Given the description of an element on the screen output the (x, y) to click on. 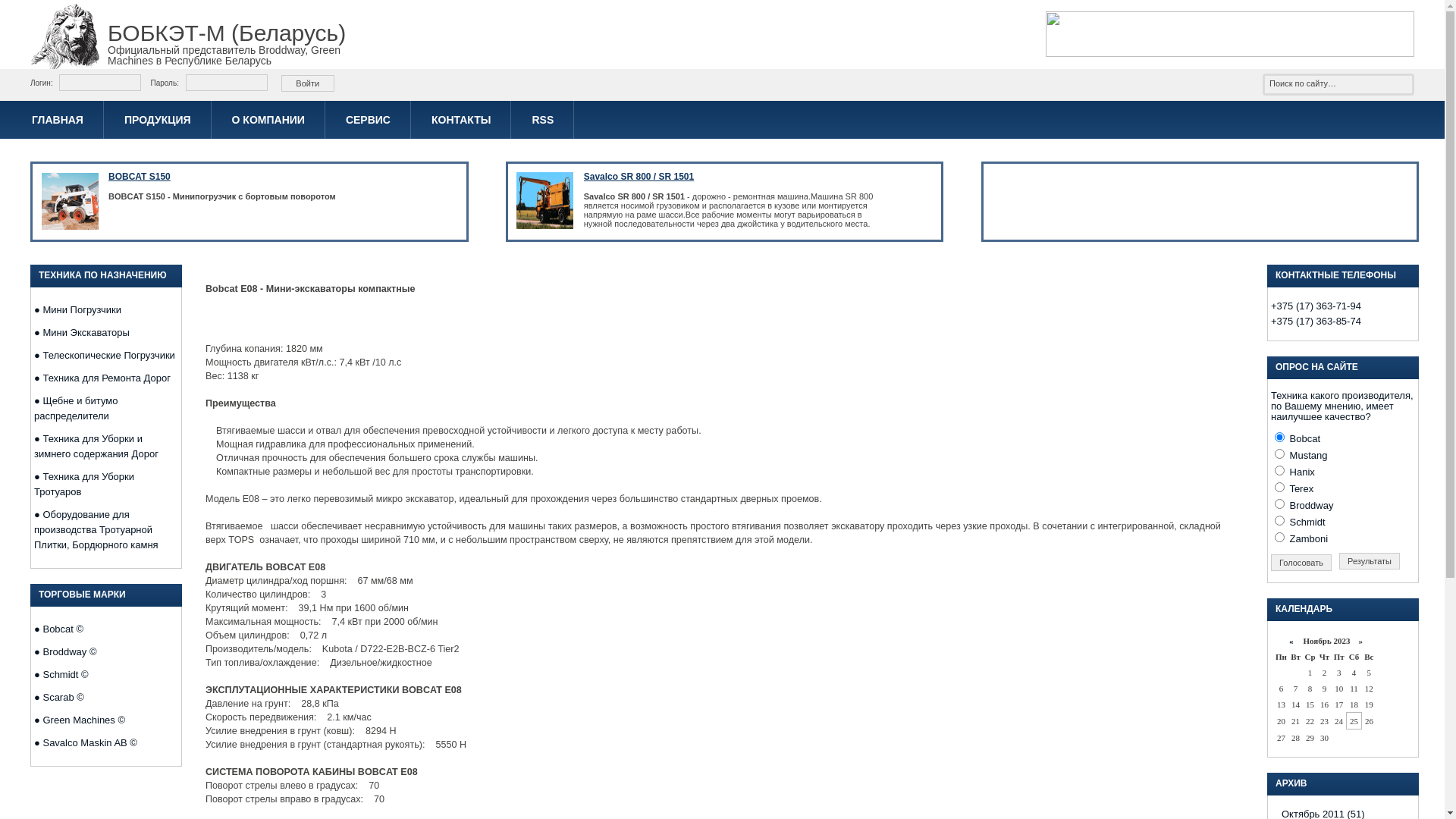
BOBCAT S150 Element type: text (139, 176)
Savalco SR 800 / SR 1501 Element type: text (638, 176)
RSS Element type: text (542, 119)
